Given the description of an element on the screen output the (x, y) to click on. 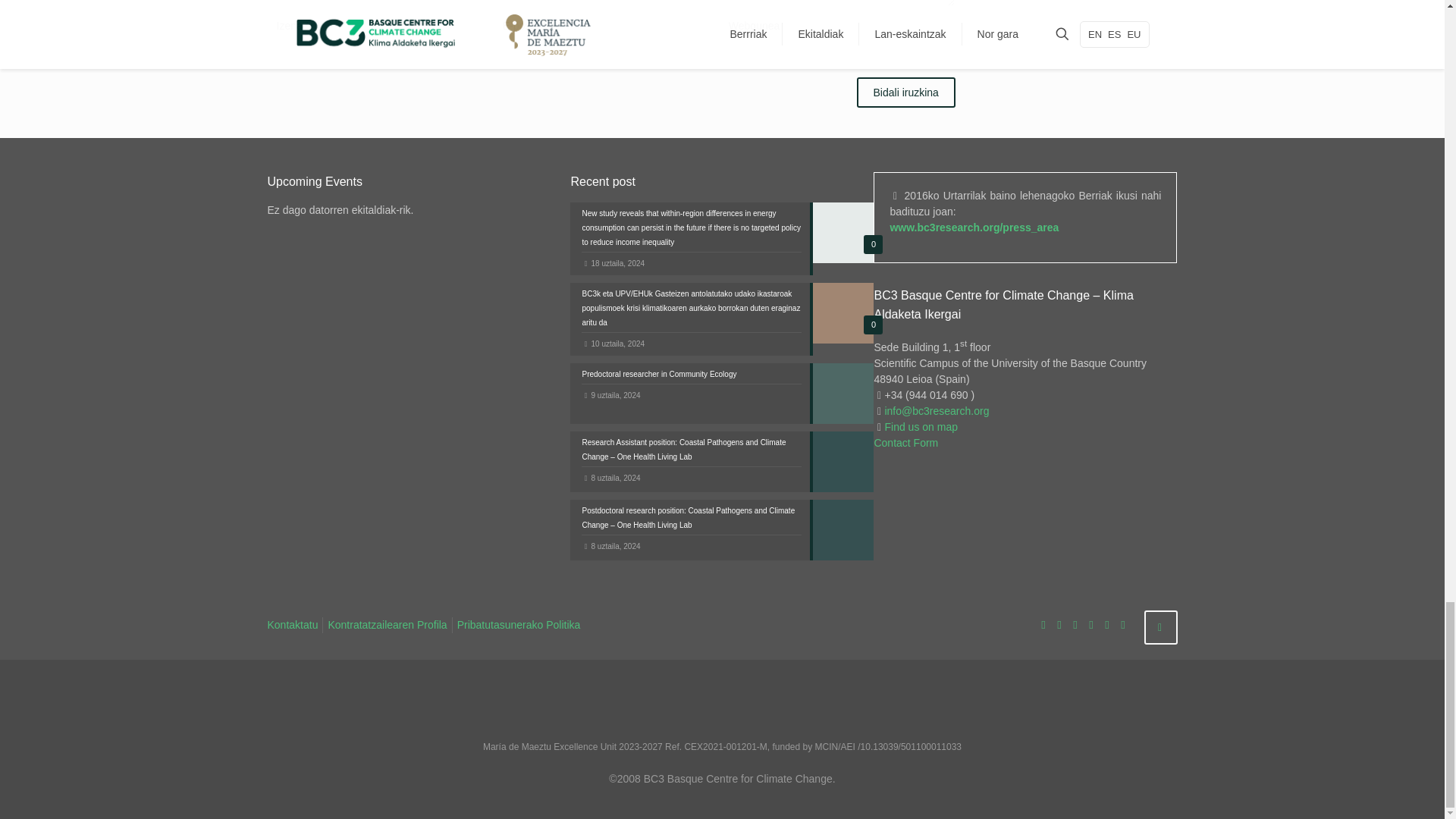
Bidali iruzkina (906, 91)
